Given the description of an element on the screen output the (x, y) to click on. 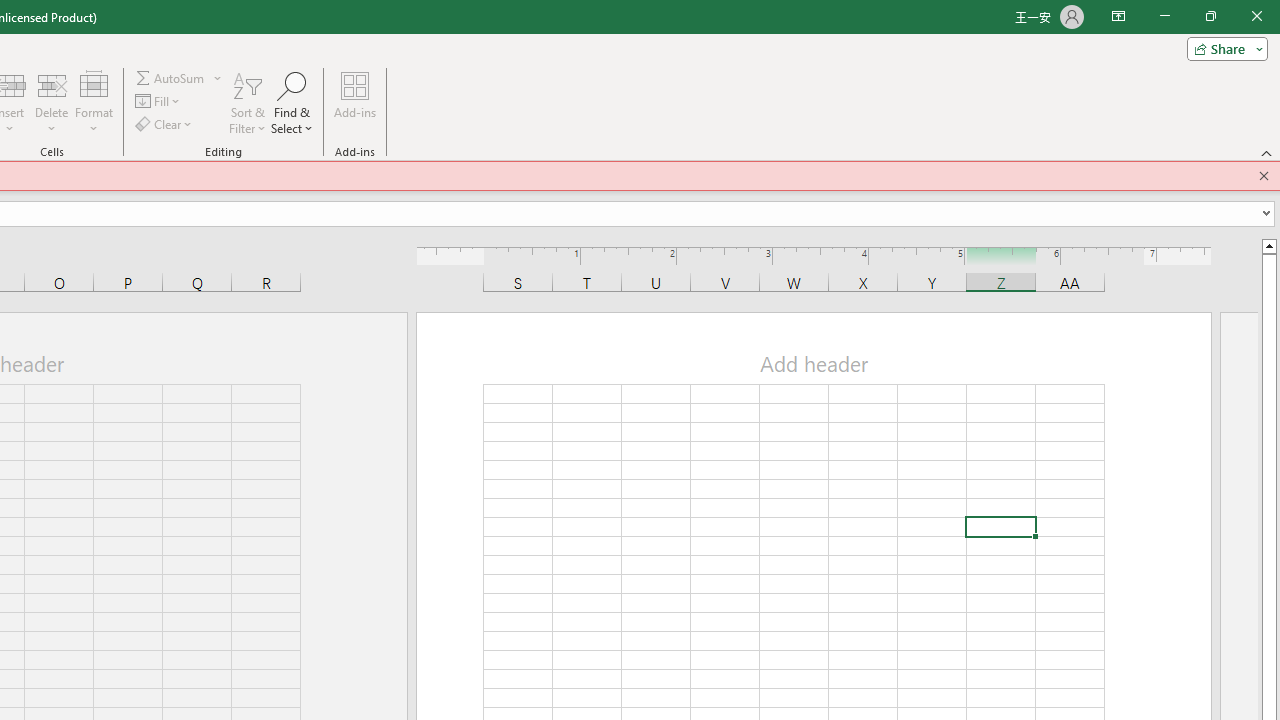
Sort & Filter (247, 102)
AutoSum (178, 78)
Fill (158, 101)
Format (94, 102)
Find & Select (292, 102)
Sum (171, 78)
